Given the description of an element on the screen output the (x, y) to click on. 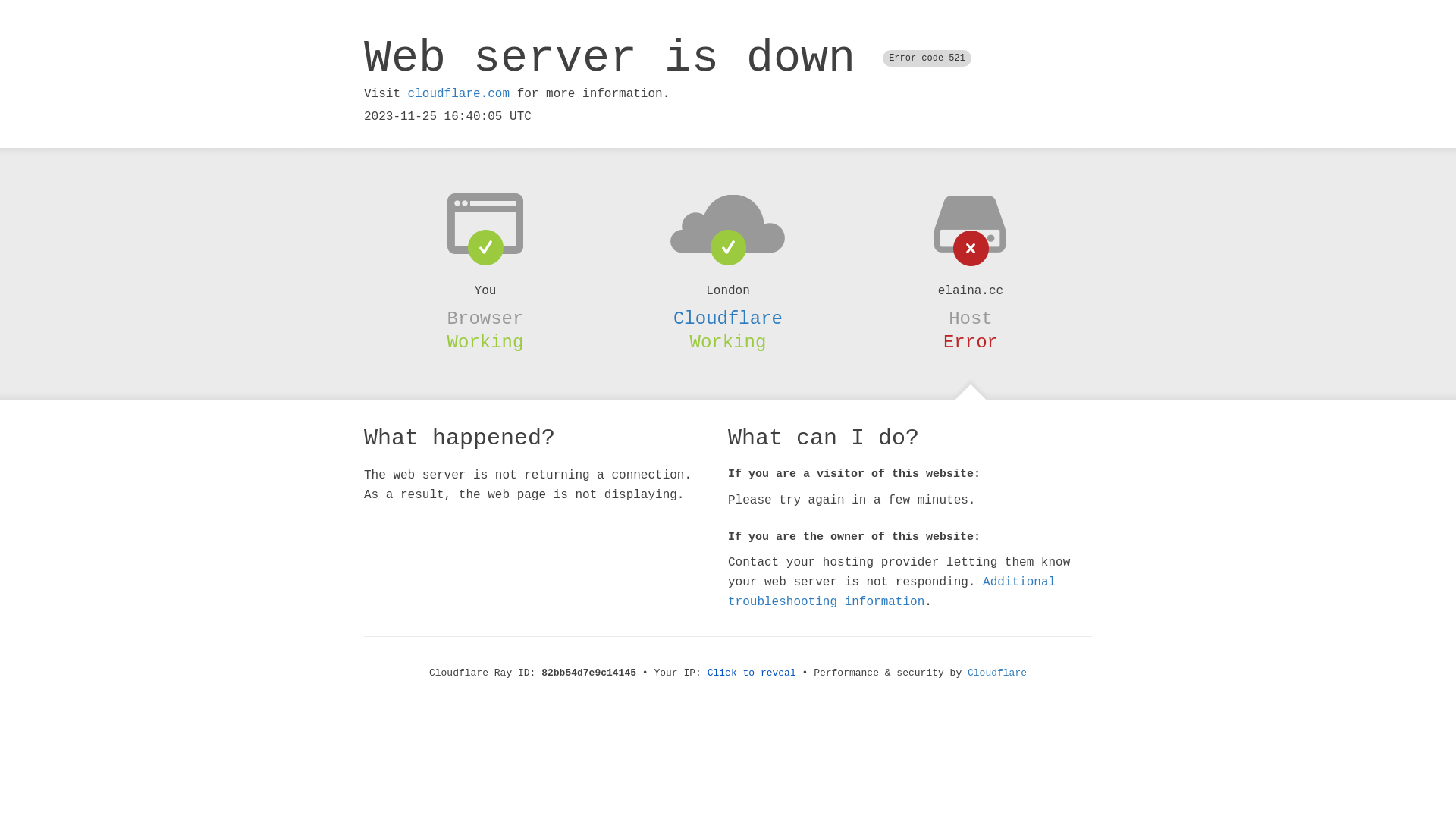
Cloudflare Element type: text (996, 672)
Additional troubleshooting information Element type: text (891, 591)
Click to reveal Element type: text (751, 672)
Cloudflare Element type: text (727, 318)
cloudflare.com Element type: text (458, 93)
